Given the description of an element on the screen output the (x, y) to click on. 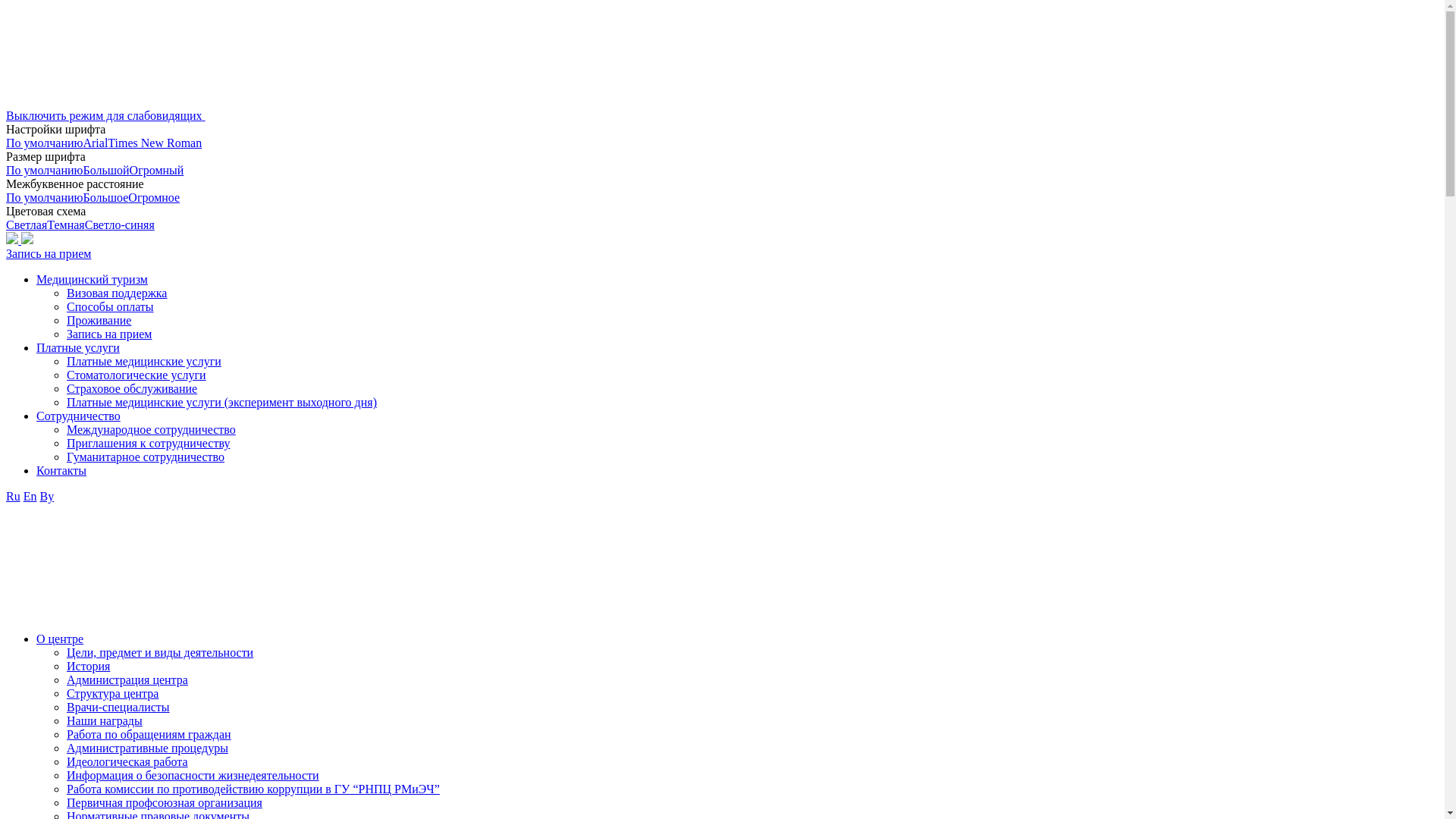
Times New Roman Element type: text (154, 142)
Arial Element type: text (94, 142)
By Element type: text (46, 495)
Ru Element type: text (13, 495)
En Element type: text (30, 495)
